Given the description of an element on the screen output the (x, y) to click on. 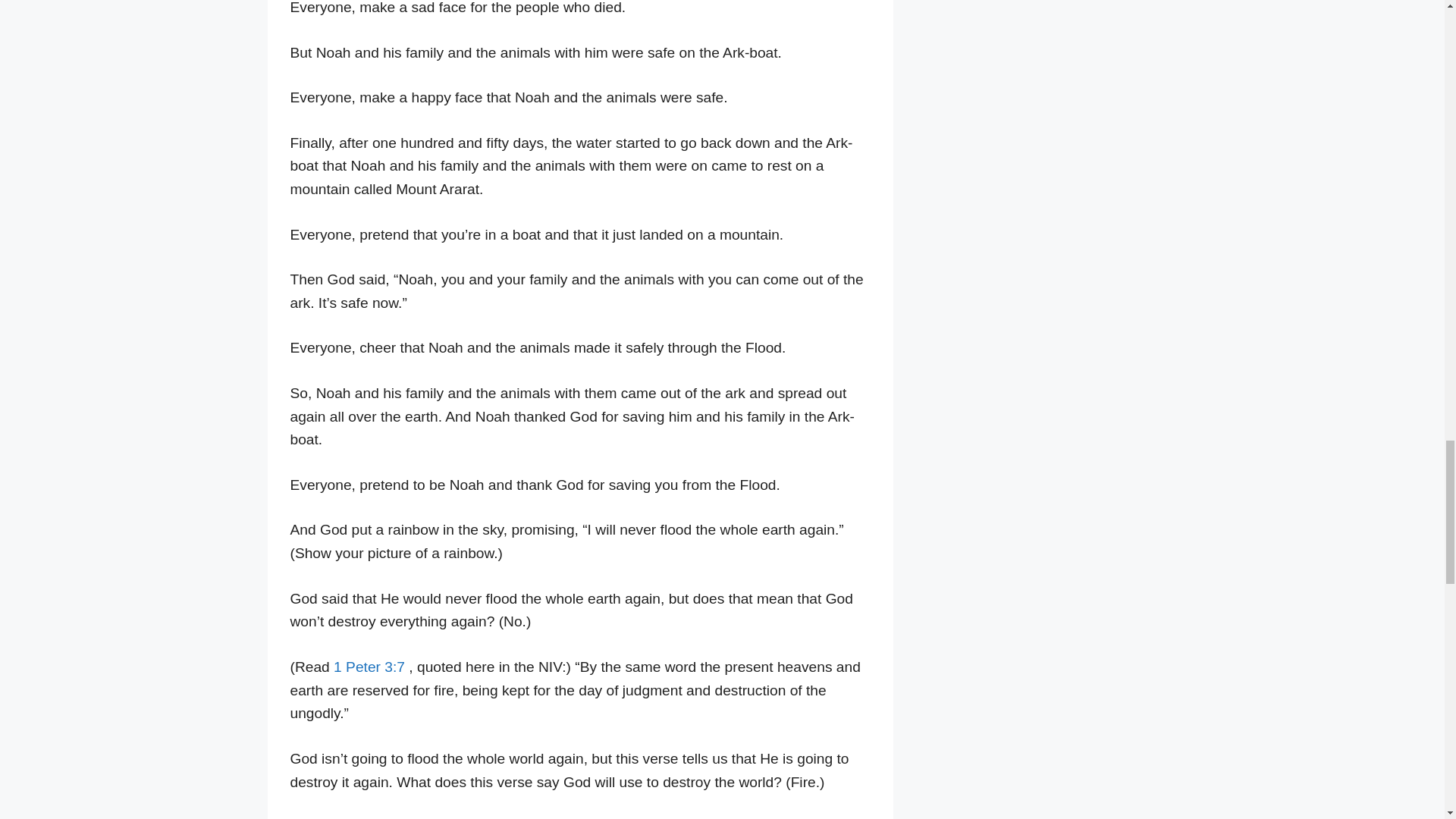
1 Peter 3:7 (368, 666)
